Given the description of an element on the screen output the (x, y) to click on. 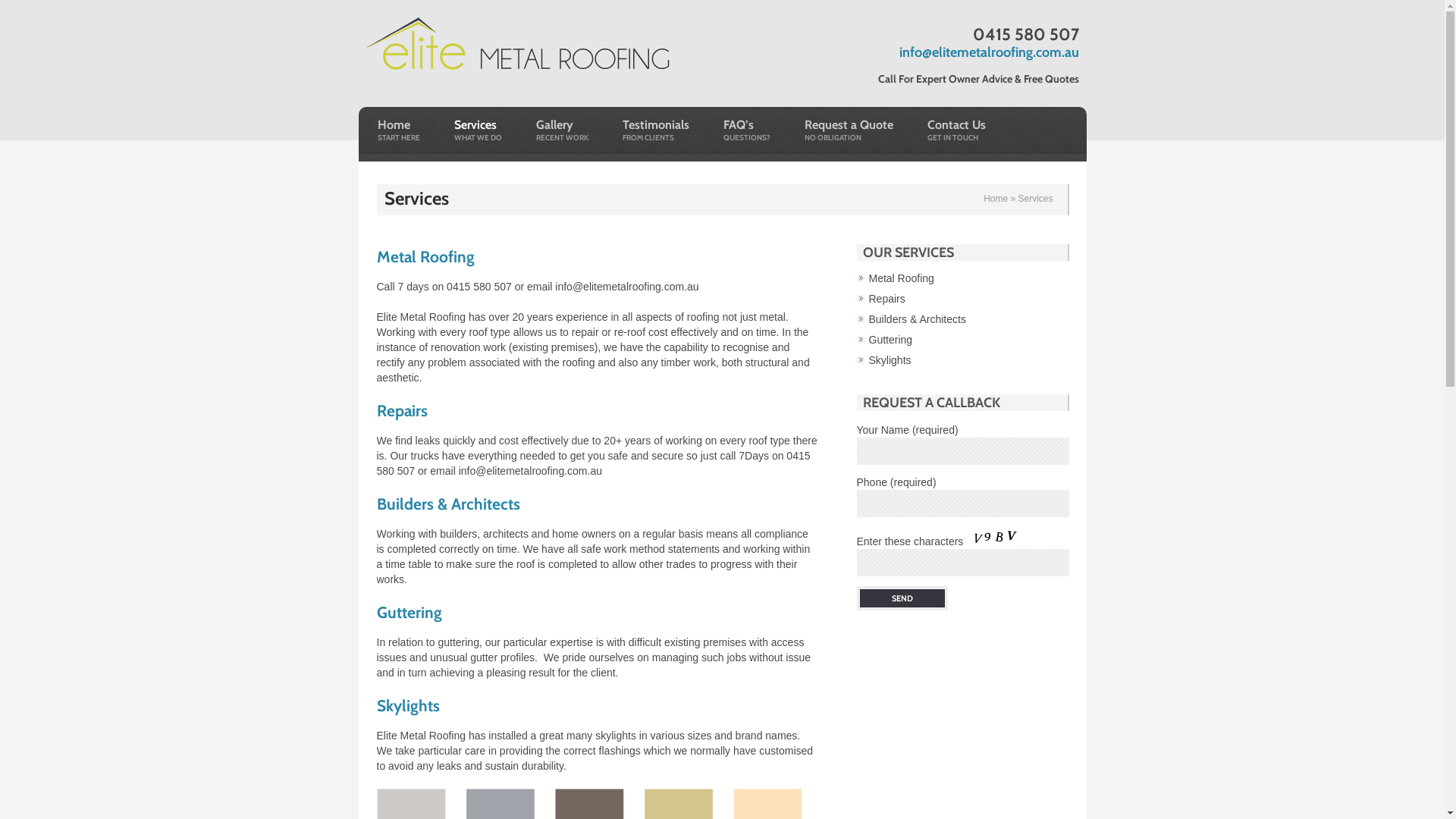
Elite Metal Roofing Element type: text (517, 43)
Gallery
RECENT WORK Element type: text (562, 132)
Home
START HERE Element type: text (398, 132)
Services
WHAT WE DO Element type: text (477, 132)
Request a Quote
NO OBLIGATION Element type: text (848, 132)
Contact Us
GET IN TOUCH Element type: text (956, 132)
Send Element type: text (901, 598)
Testimonials
FROM CLIENTS Element type: text (655, 132)
info@elitemetalroofing.com.au Element type: text (989, 50)
